Given the description of an element on the screen output the (x, y) to click on. 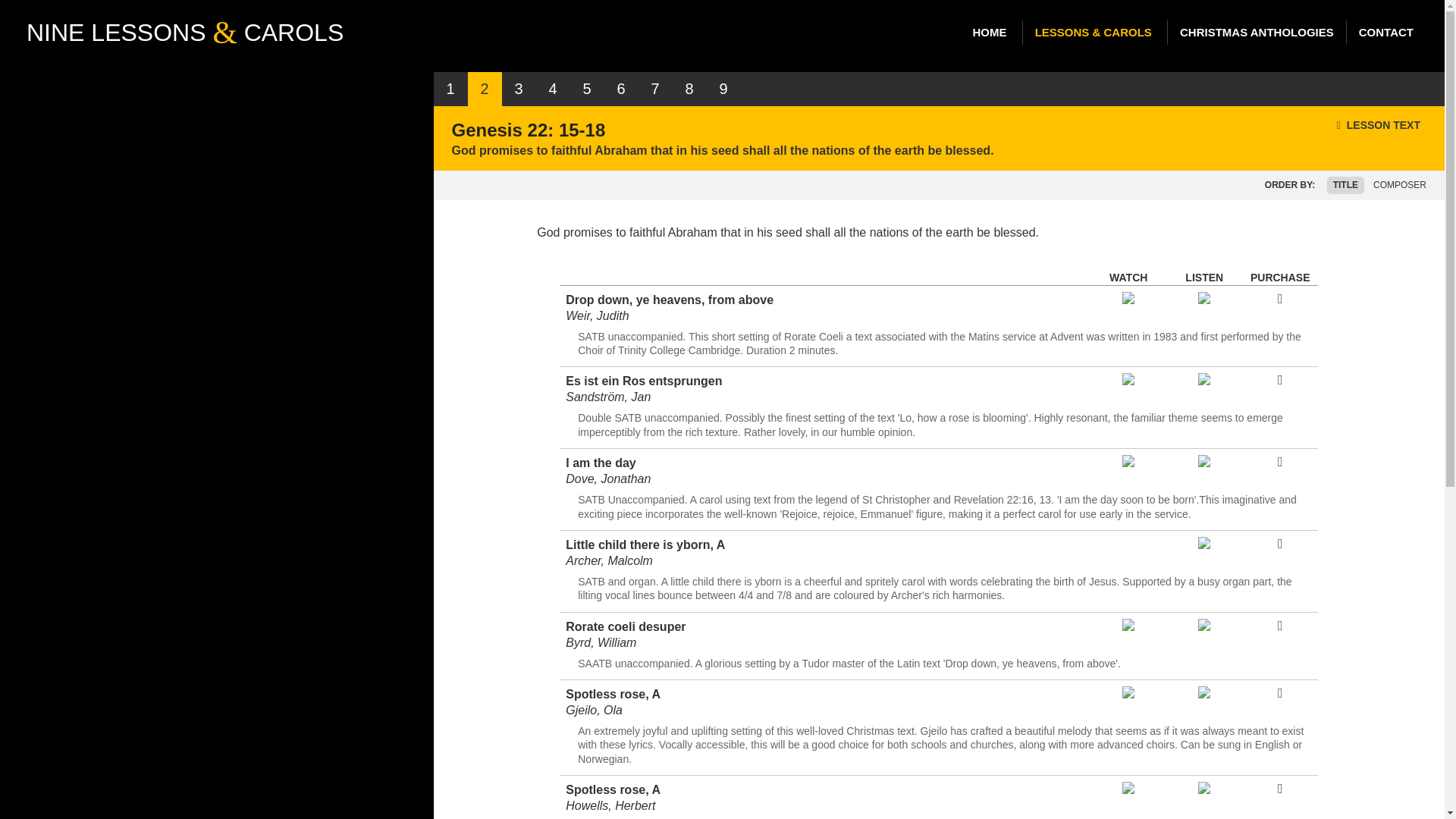
COMPOSER (1399, 185)
1 (450, 89)
3 (518, 89)
5 (587, 89)
Listen on Spotify (1203, 299)
Watch on YouTube (1128, 462)
Listen on Spotify (1203, 462)
Watch on YouTube (1128, 789)
Listen on Spotify (1203, 544)
HOME (988, 32)
7 (655, 89)
CHRISTMAS ANTHOLOGIES (1256, 32)
Listen on Spotify (1203, 380)
Watch on YouTube (1128, 694)
  LESSON TEXT (1378, 125)
